Given the description of an element on the screen output the (x, y) to click on. 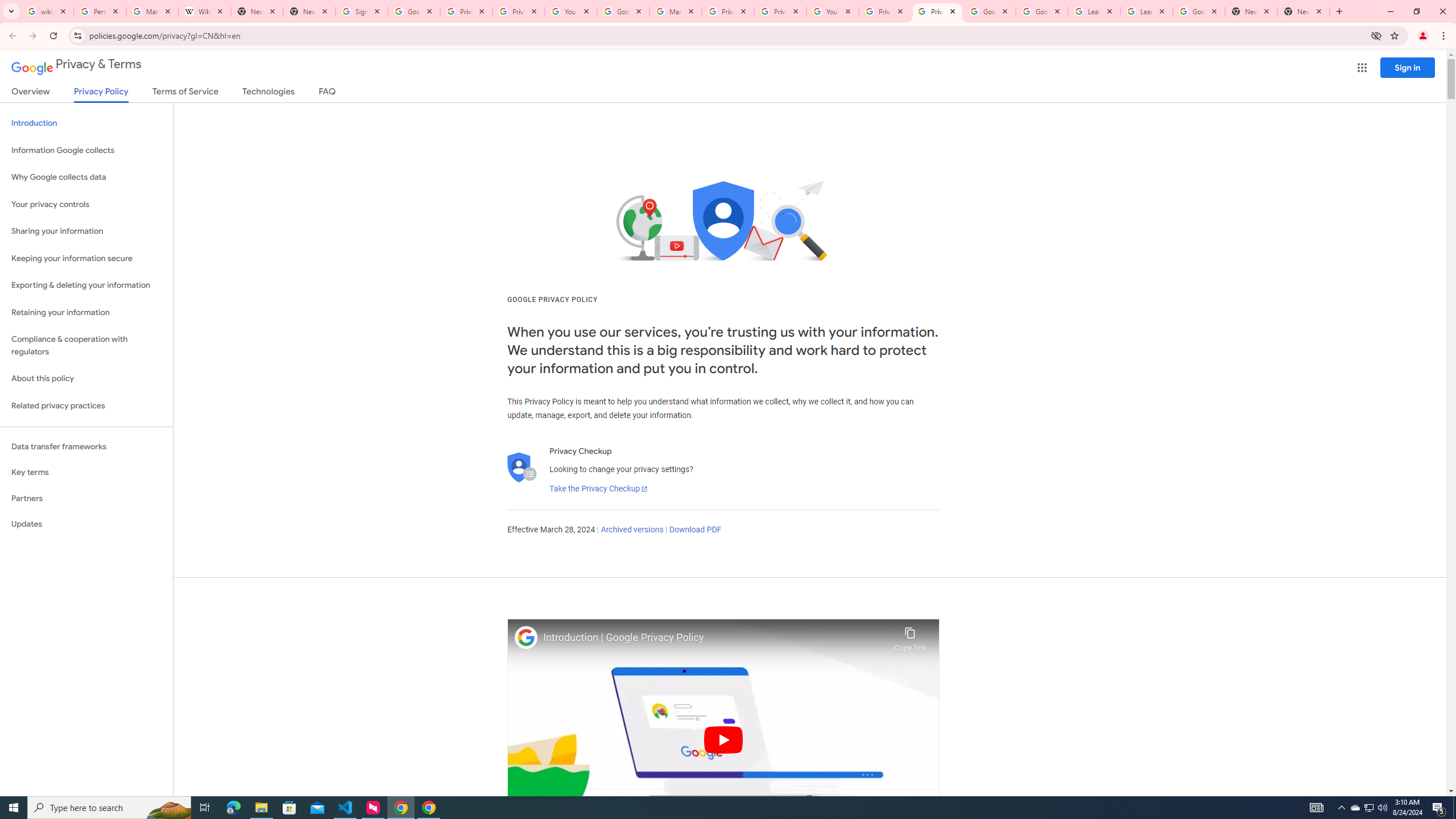
Introduction | Google Privacy Policy (715, 637)
Play (723, 739)
Google Account (1198, 11)
New Tab (1303, 11)
